Given the description of an element on the screen output the (x, y) to click on. 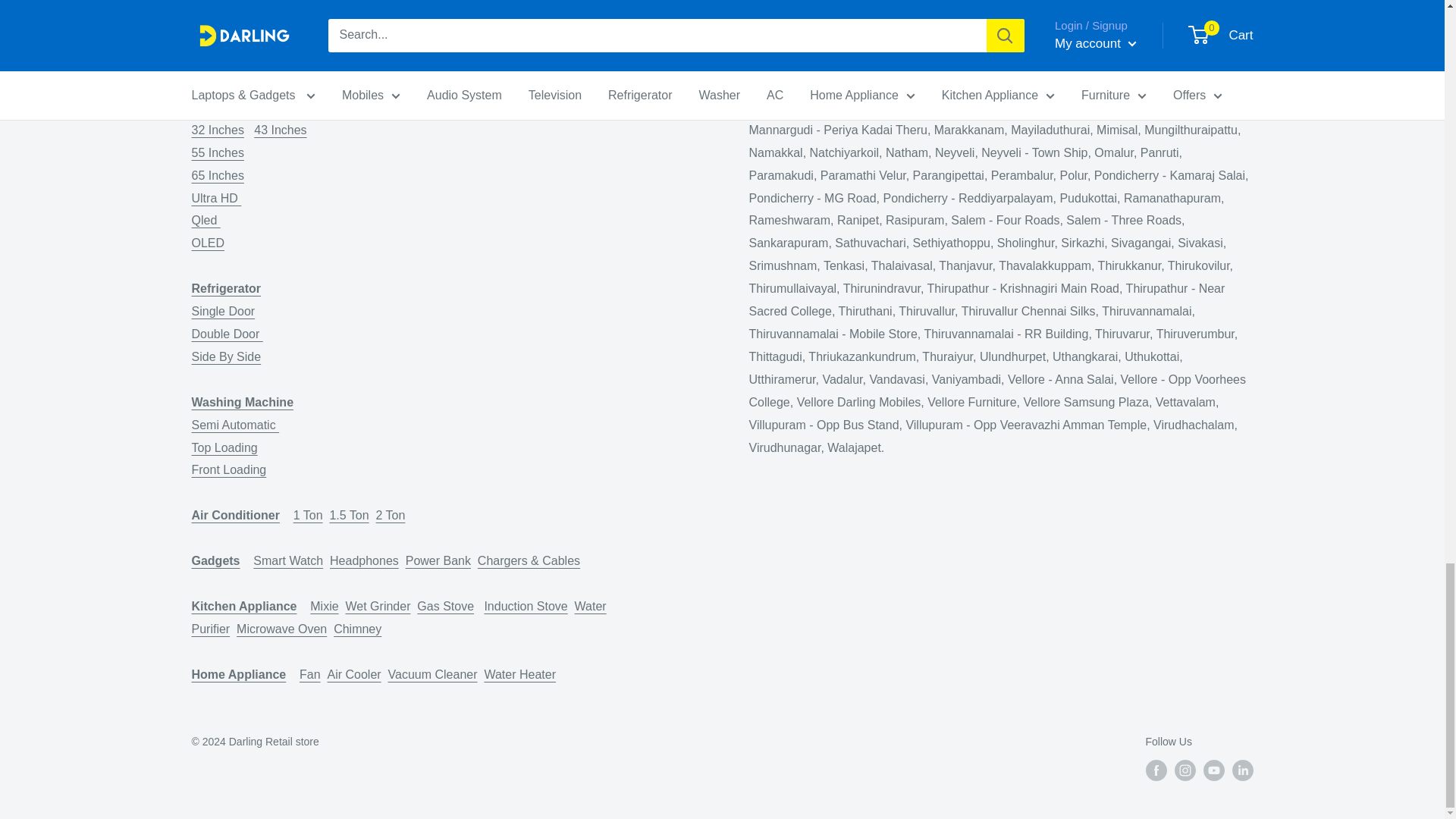
43 Inch led tv (279, 129)
Television (210, 118)
55 Inch led tv (252, 163)
Vivo Mobiles (220, 49)
Samsung Smart Phones (241, 27)
Oppo Mobiles (242, 38)
32 Inch Led TV (218, 140)
Mobiles (231, 11)
Xiaomi Mobiles (228, 72)
